Given the description of an element on the screen output the (x, y) to click on. 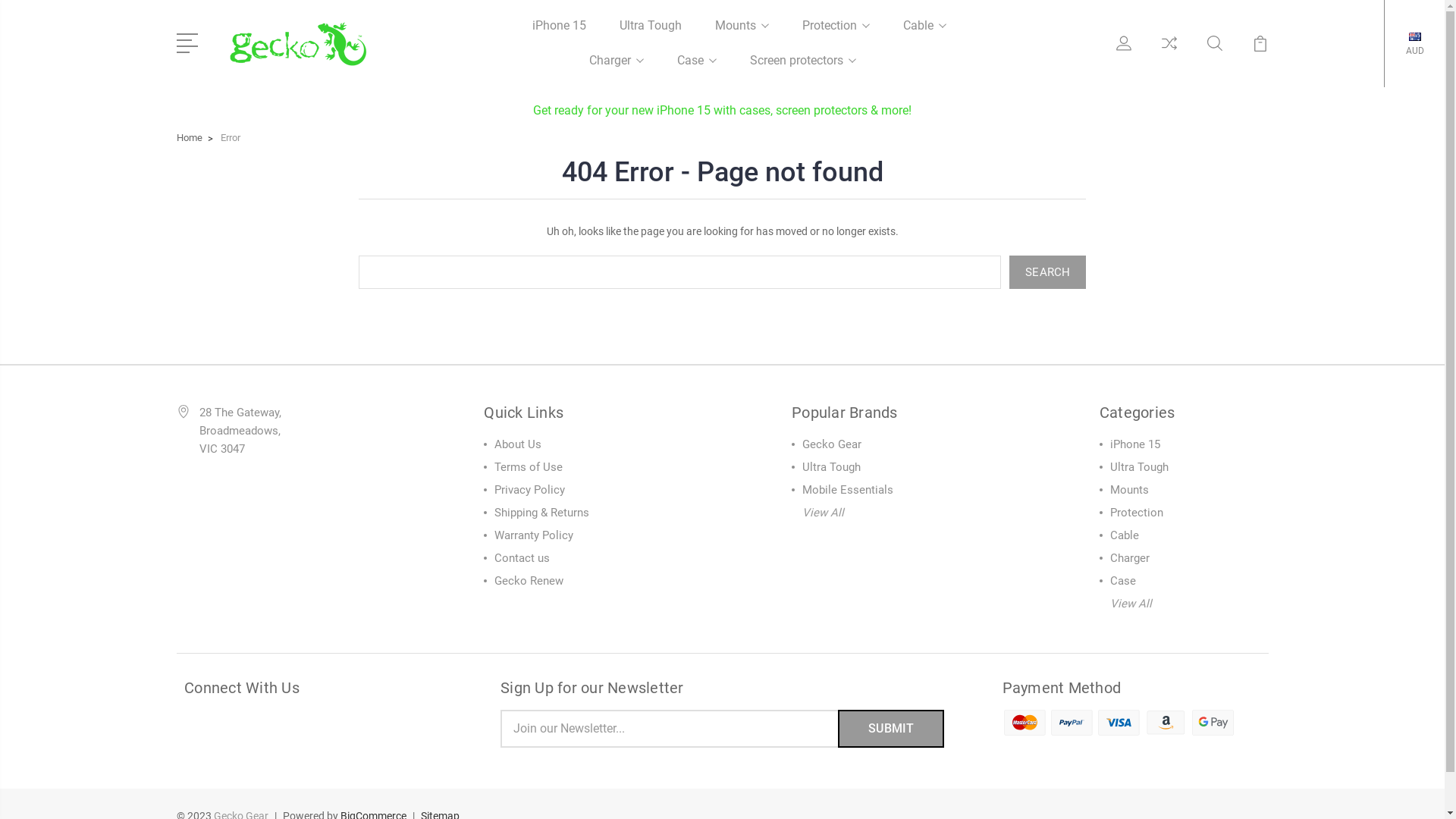
Gecko Gear Element type: hover (296, 43)
Privacy Policy Element type: text (529, 488)
Ultra Tough Element type: text (1139, 466)
Home Element type: text (188, 137)
View All Element type: text (1130, 602)
AUD Element type: text (1414, 48)
Gecko Gear Element type: text (831, 443)
Compare Element type: hover (1168, 51)
iPhone 15 Element type: text (559, 34)
Terms of Use Element type: text (528, 466)
Ultra Tough Element type: text (831, 466)
Ultra Tough Element type: text (649, 34)
About Us Element type: text (517, 443)
Case Element type: text (695, 69)
submit Element type: text (890, 728)
Charger Element type: text (615, 69)
Screen protectors Element type: text (802, 69)
Charger Element type: text (1129, 557)
Mobile Essentials Element type: text (847, 488)
Contact us Element type: text (521, 557)
Mounts Element type: text (741, 34)
Gecko Renew Element type: text (528, 579)
iPhone 15 Element type: text (1135, 443)
Protection Element type: text (1136, 511)
Warranty Policy Element type: text (533, 534)
Search Element type: text (1047, 271)
Protection Element type: text (835, 34)
Shipping & Returns Element type: text (541, 511)
Mounts Element type: text (1129, 488)
View All Element type: text (823, 511)
Cable Element type: text (923, 34)
Cable Element type: text (1124, 534)
Case Element type: text (1122, 579)
